Given the description of an element on the screen output the (x, y) to click on. 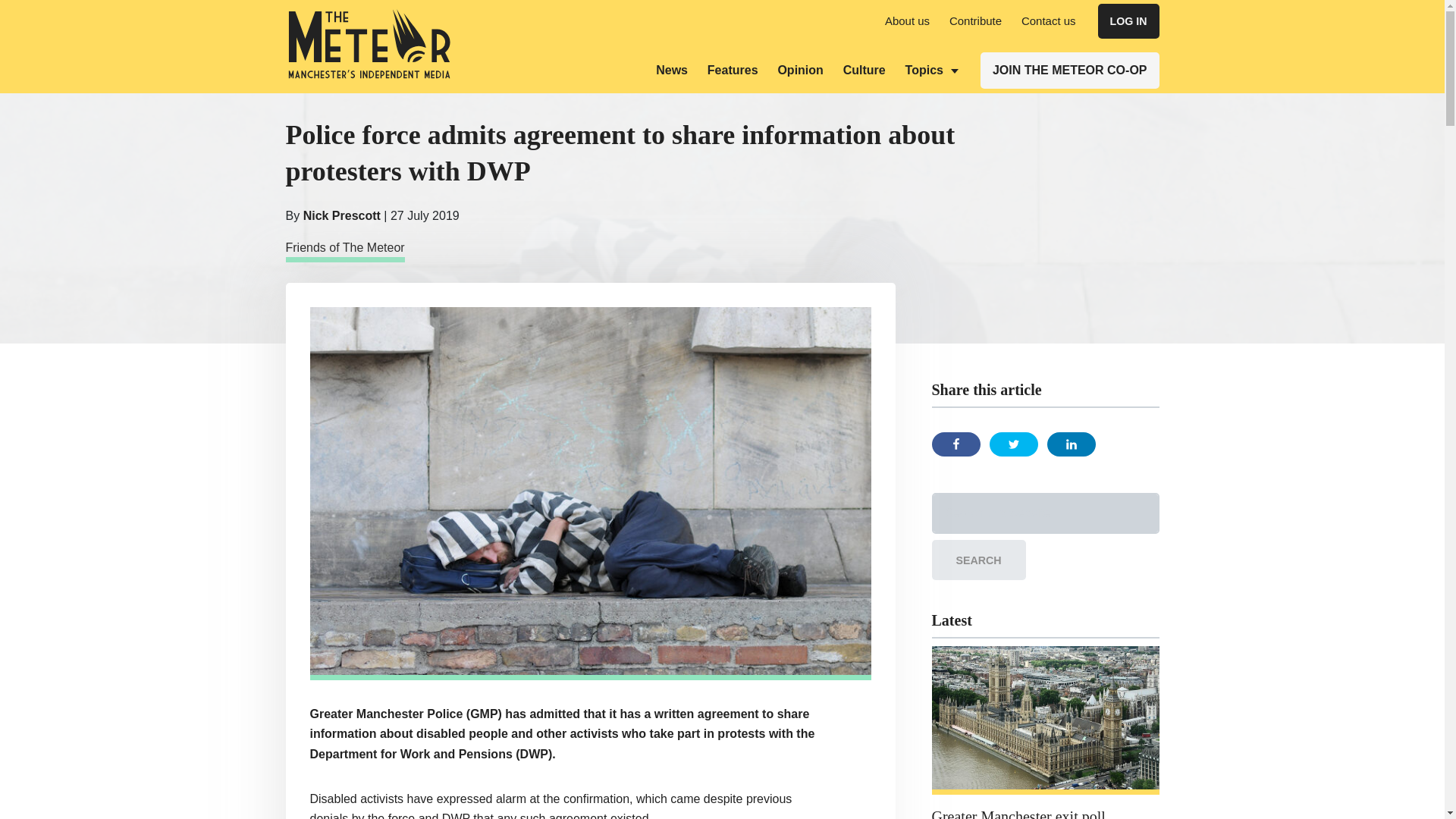
News (671, 69)
Search (978, 559)
JOIN THE METEOR CO-OP (1069, 69)
Opinion (799, 69)
About us (907, 19)
Share on Twitter (1012, 444)
Share on Facebook (955, 444)
Culture (864, 69)
Contact us (1048, 19)
Contribute (975, 19)
Topics (931, 69)
Search (978, 559)
Friends of The Meteor (344, 250)
LOG IN (1128, 21)
